Given the description of an element on the screen output the (x, y) to click on. 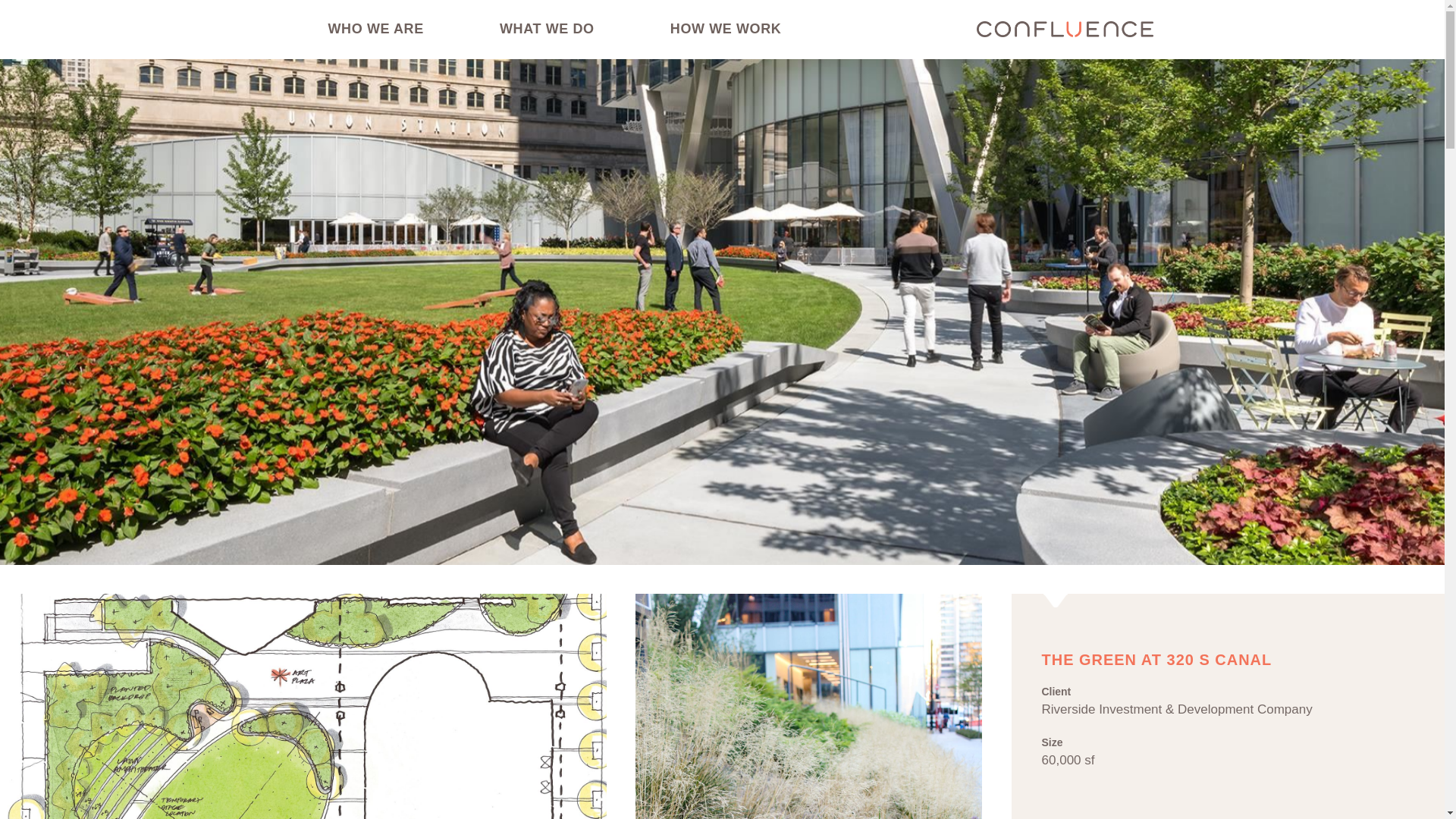
HOW WE WORK (725, 29)
WHO WE ARE (375, 29)
WHAT WE DO (546, 29)
